Given the description of an element on the screen output the (x, y) to click on. 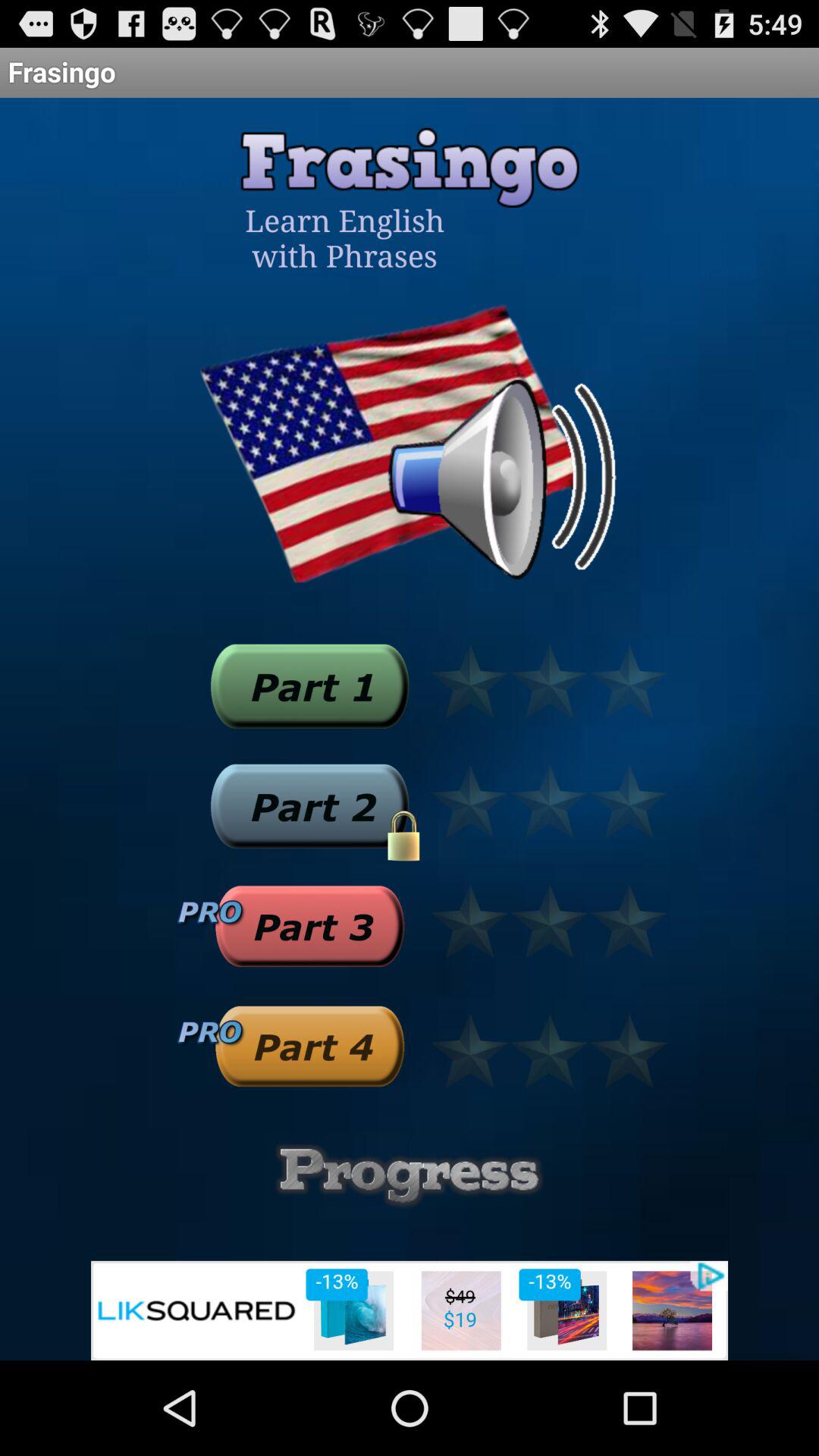
part 3 (309, 926)
